Given the description of an element on the screen output the (x, y) to click on. 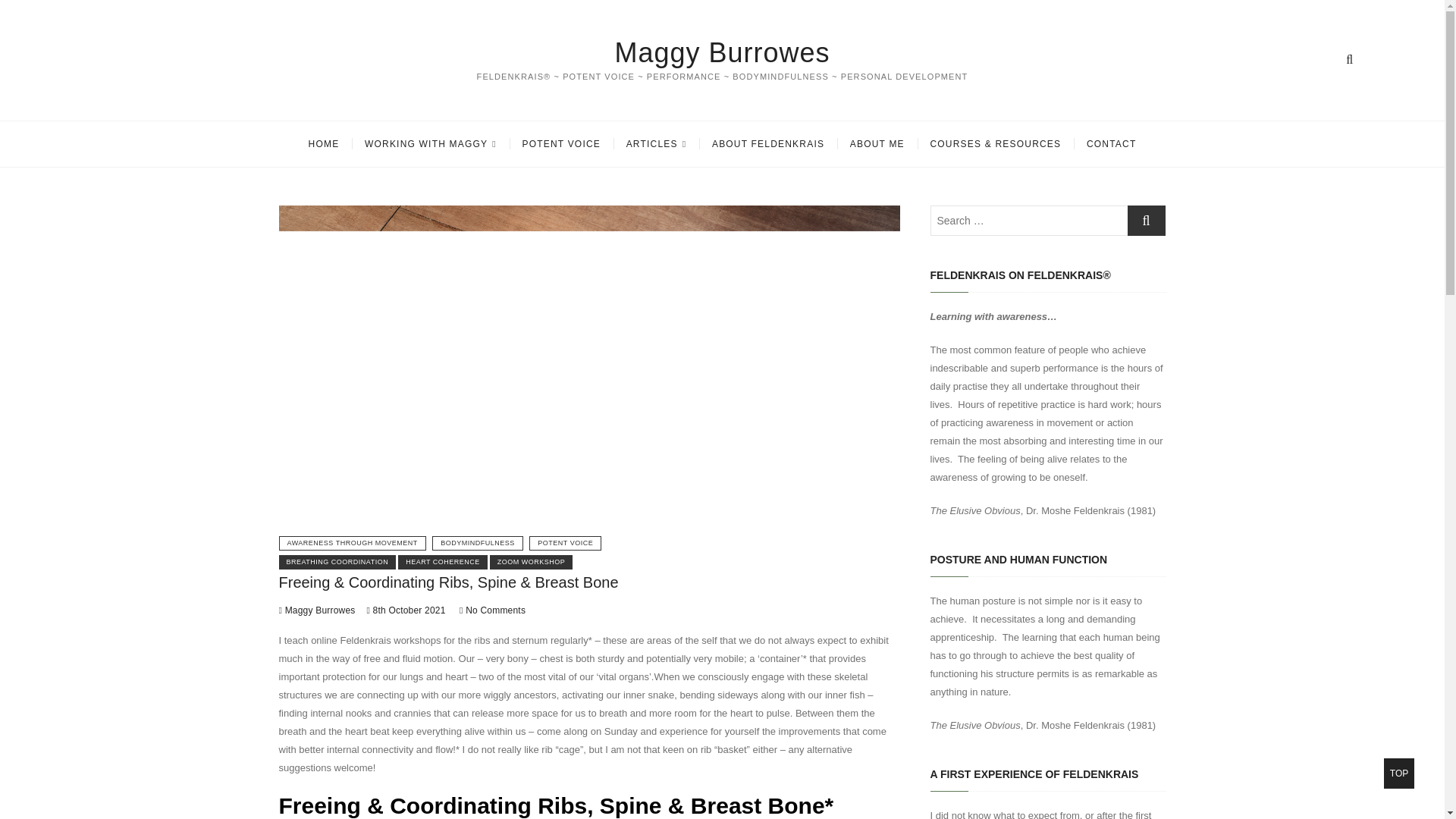
BREATHING COORDINATION (337, 562)
Maggy Burrowes (317, 610)
WORKING WITH MAGGY (430, 144)
HEART COHERENCE (442, 562)
8th October 2021 (405, 610)
ABOUT FELDENKRAIS (767, 144)
ABOUT ME (876, 144)
POTENT VOICE (565, 543)
Maggy Burrowes (722, 52)
BODYMINDFULNESS (477, 543)
